Given the description of an element on the screen output the (x, y) to click on. 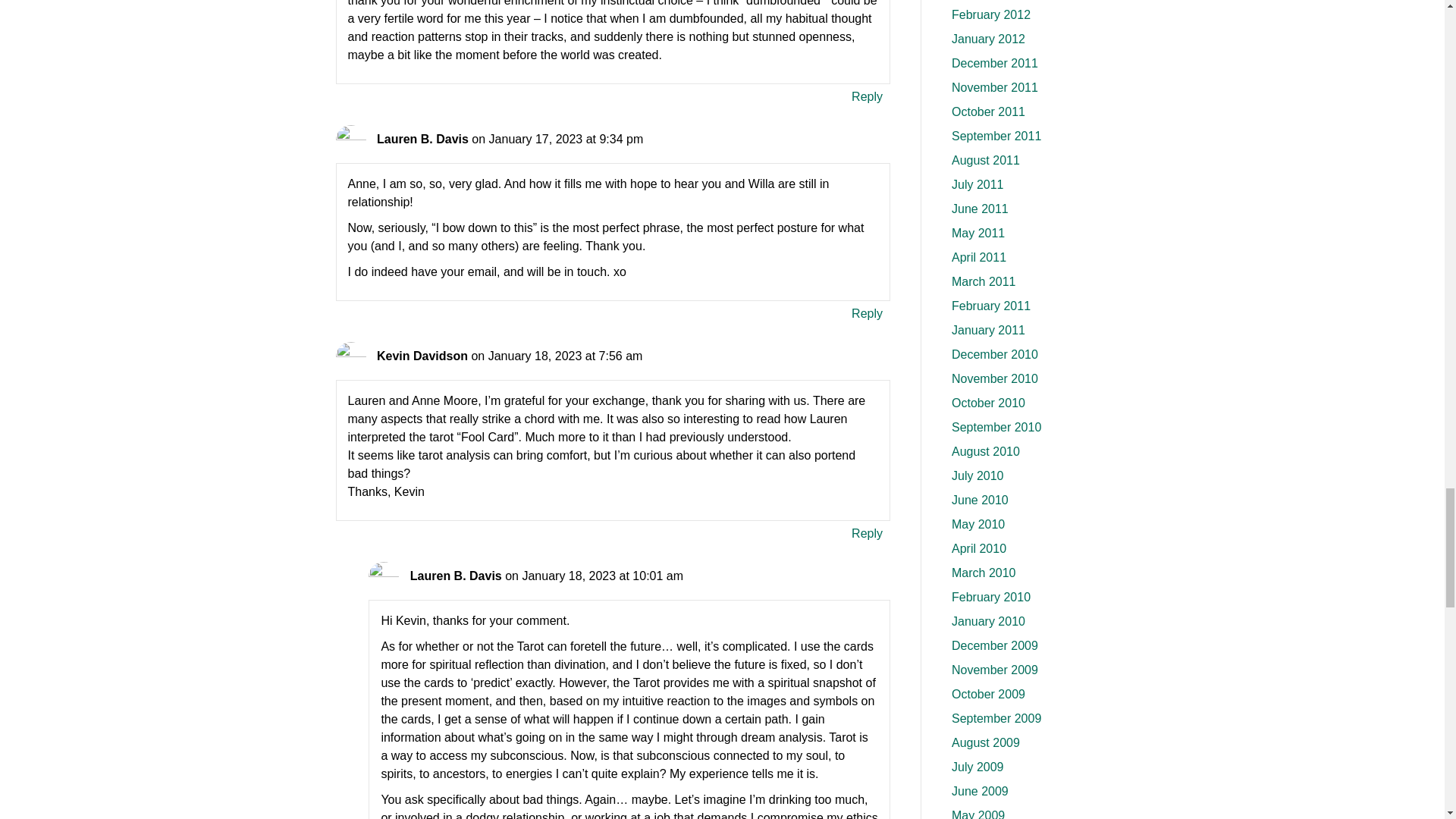
Reply (866, 96)
Reply (866, 533)
Reply (866, 313)
